Given the description of an element on the screen output the (x, y) to click on. 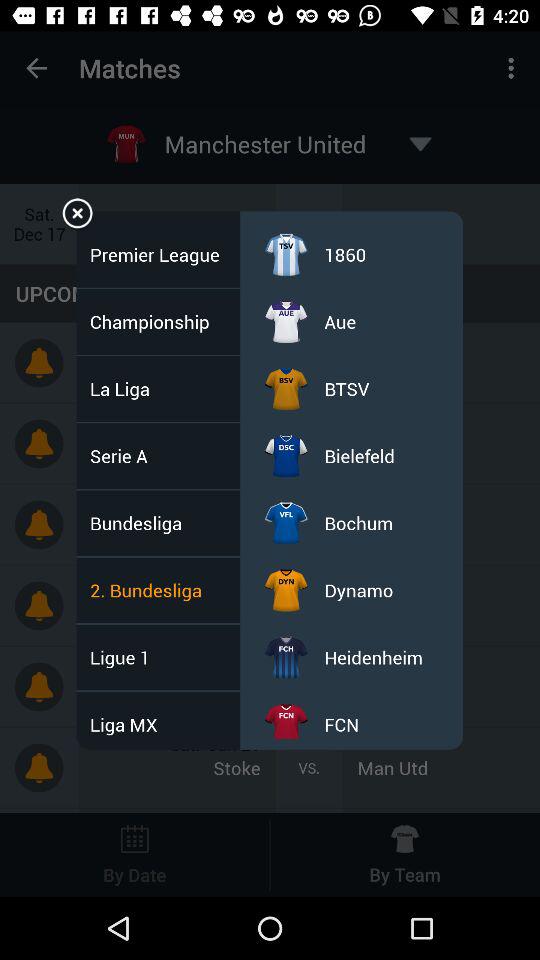
open the icon above ligue 1 (152, 589)
